Given the description of an element on the screen output the (x, y) to click on. 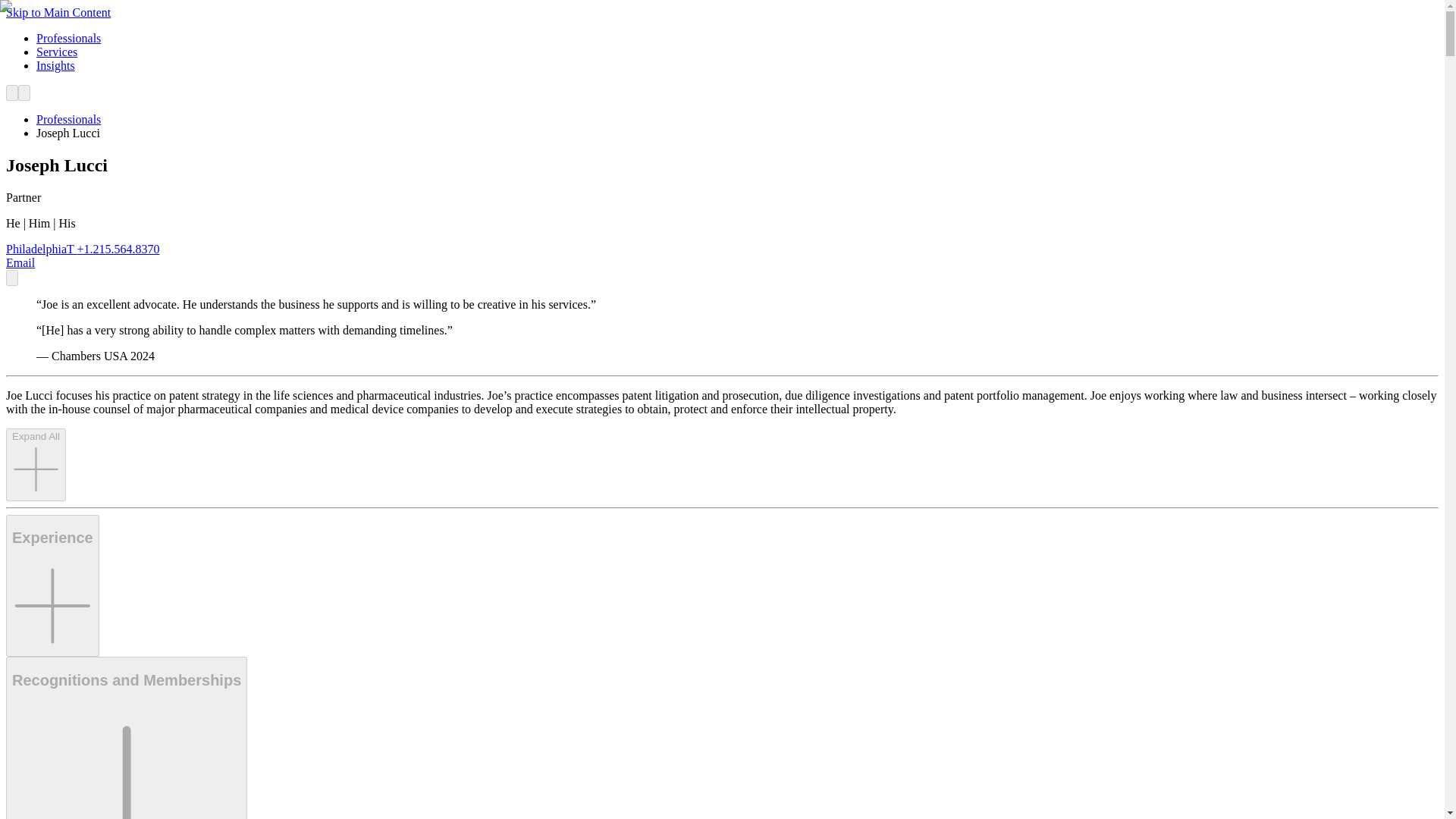
Plus (126, 760)
Professionals (68, 119)
Email (19, 262)
Professionals (68, 38)
Philadelphia (35, 248)
Insights (126, 737)
Services (55, 65)
Skip to Main Content (56, 51)
